Given the description of an element on the screen output the (x, y) to click on. 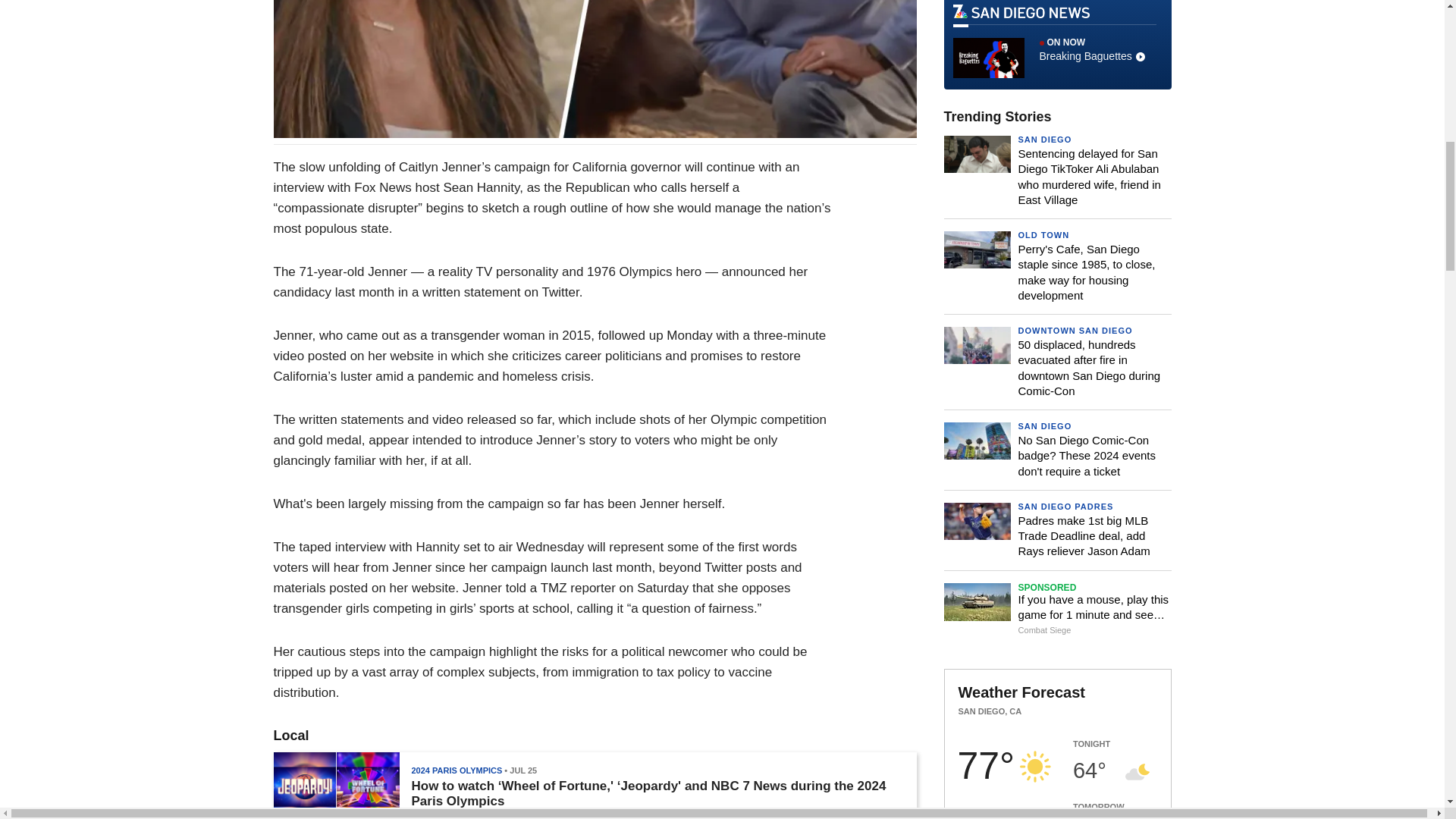
2024 PARIS OLYMPICS (456, 769)
